Given the description of an element on the screen output the (x, y) to click on. 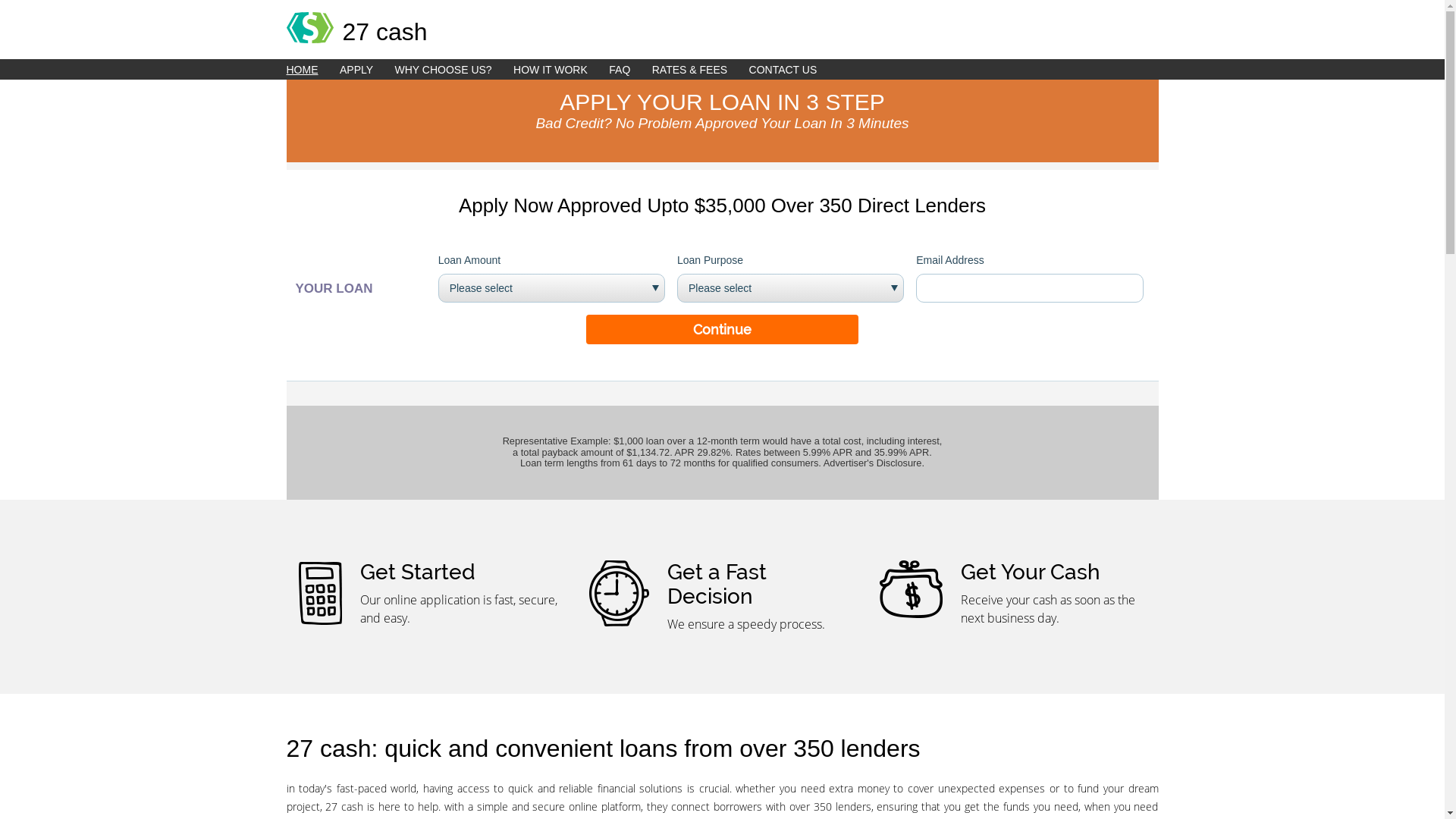
FAQ Element type: text (628, 69)
CONTACT US Element type: text (792, 69)
HOME Element type: text (311, 69)
27 cash Element type: text (722, 23)
APPLY Element type: text (365, 69)
Continue Element type: text (722, 329)
WHY CHOOSE US? Element type: text (452, 69)
HOW IT WORK Element type: text (559, 69)
RATES & FEES Element type: text (698, 69)
